Given the description of an element on the screen output the (x, y) to click on. 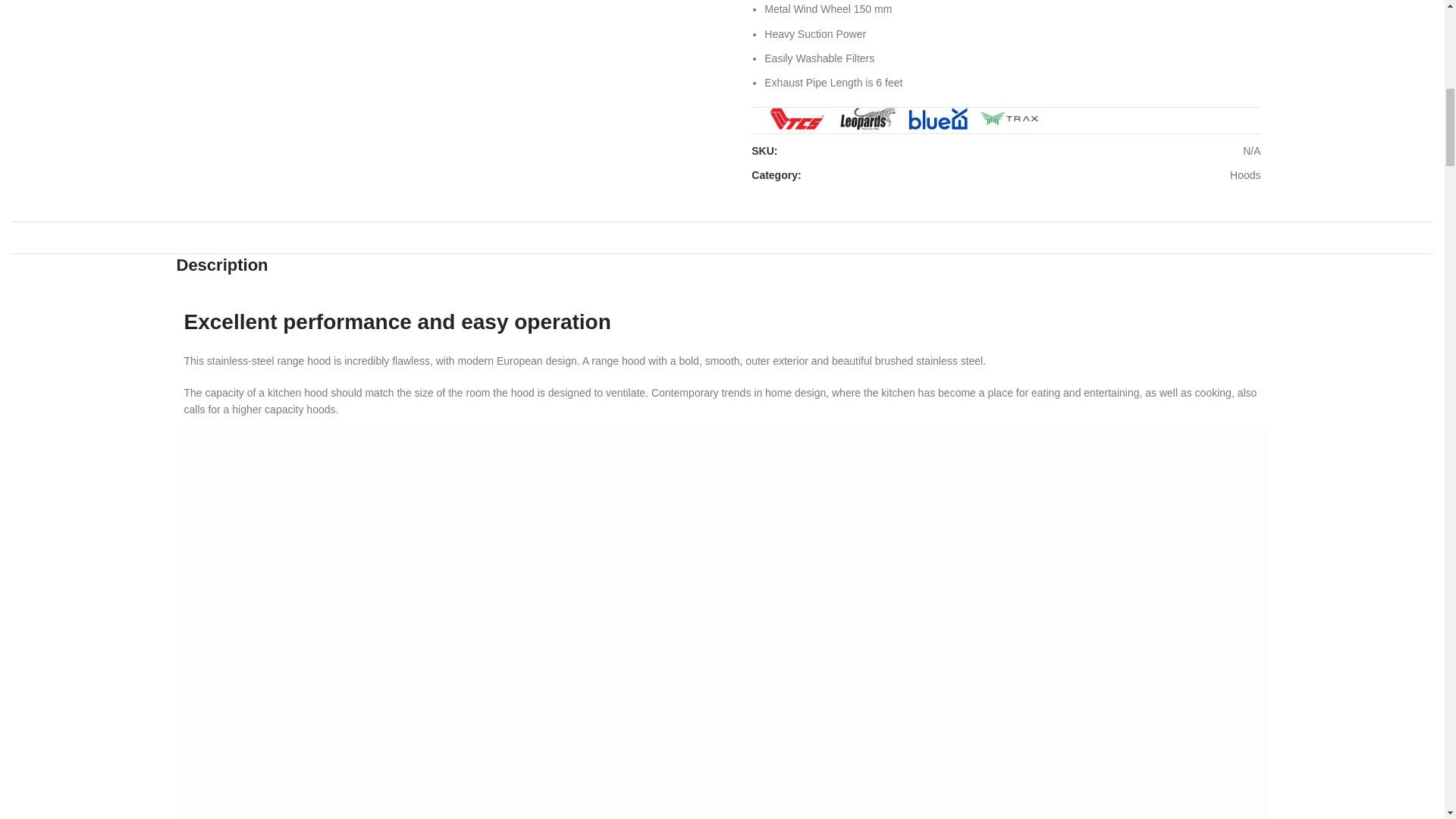
Hoods (1245, 175)
